Given the description of an element on the screen output the (x, y) to click on. 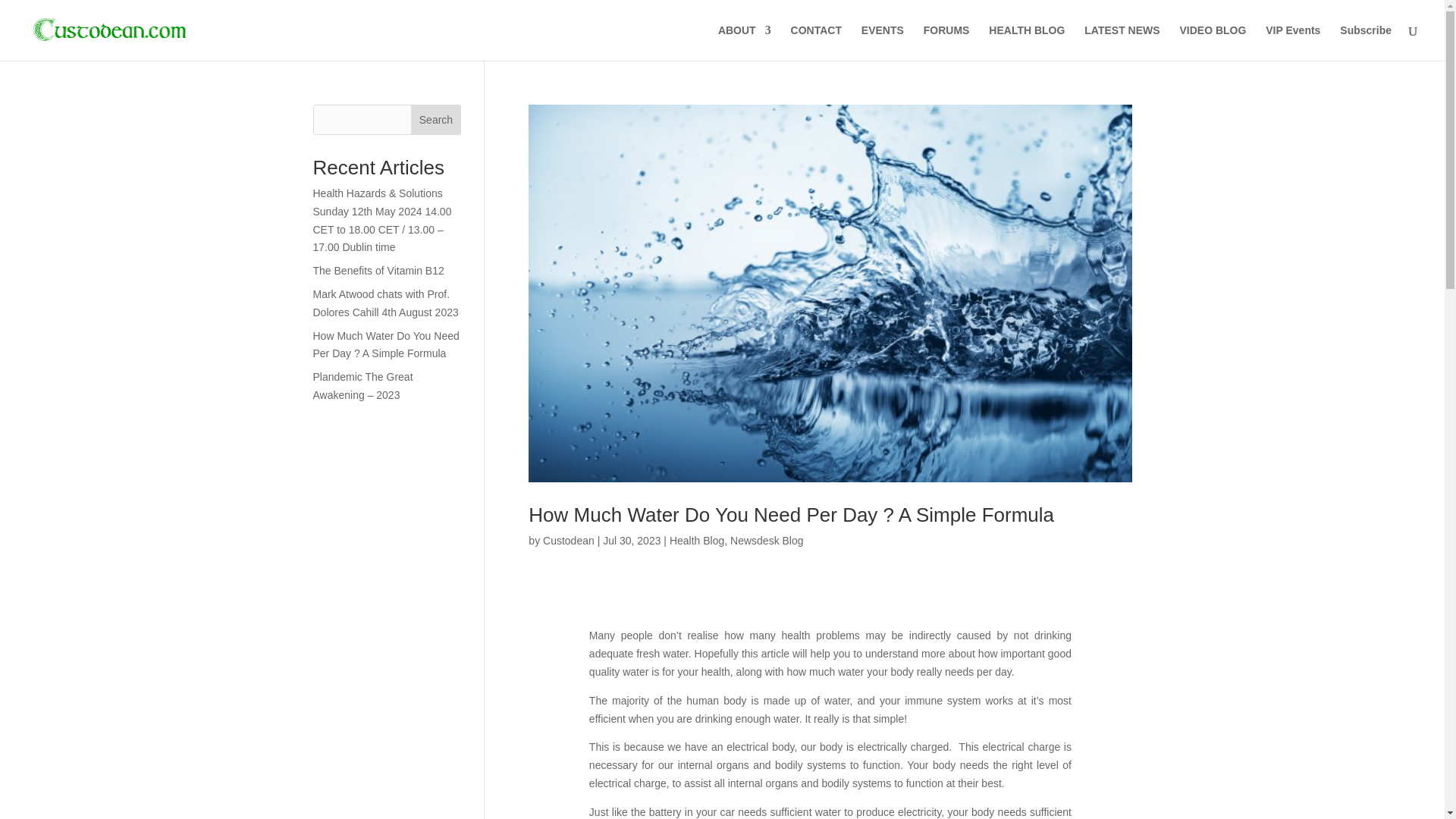
Custodean (568, 540)
VIDEO BLOG (1212, 42)
EVENTS (882, 42)
Posts by Custodean (568, 540)
The Benefits of Vitamin B12 (378, 270)
HEALTH BLOG (1026, 42)
Mark Atwood chats with Prof. Dolores Cahill 4th August 2023 (385, 303)
Subscribe (1365, 42)
How Much Water Do You Need Per Day ? A Simple Formula (791, 514)
Search (435, 119)
